Given the description of an element on the screen output the (x, y) to click on. 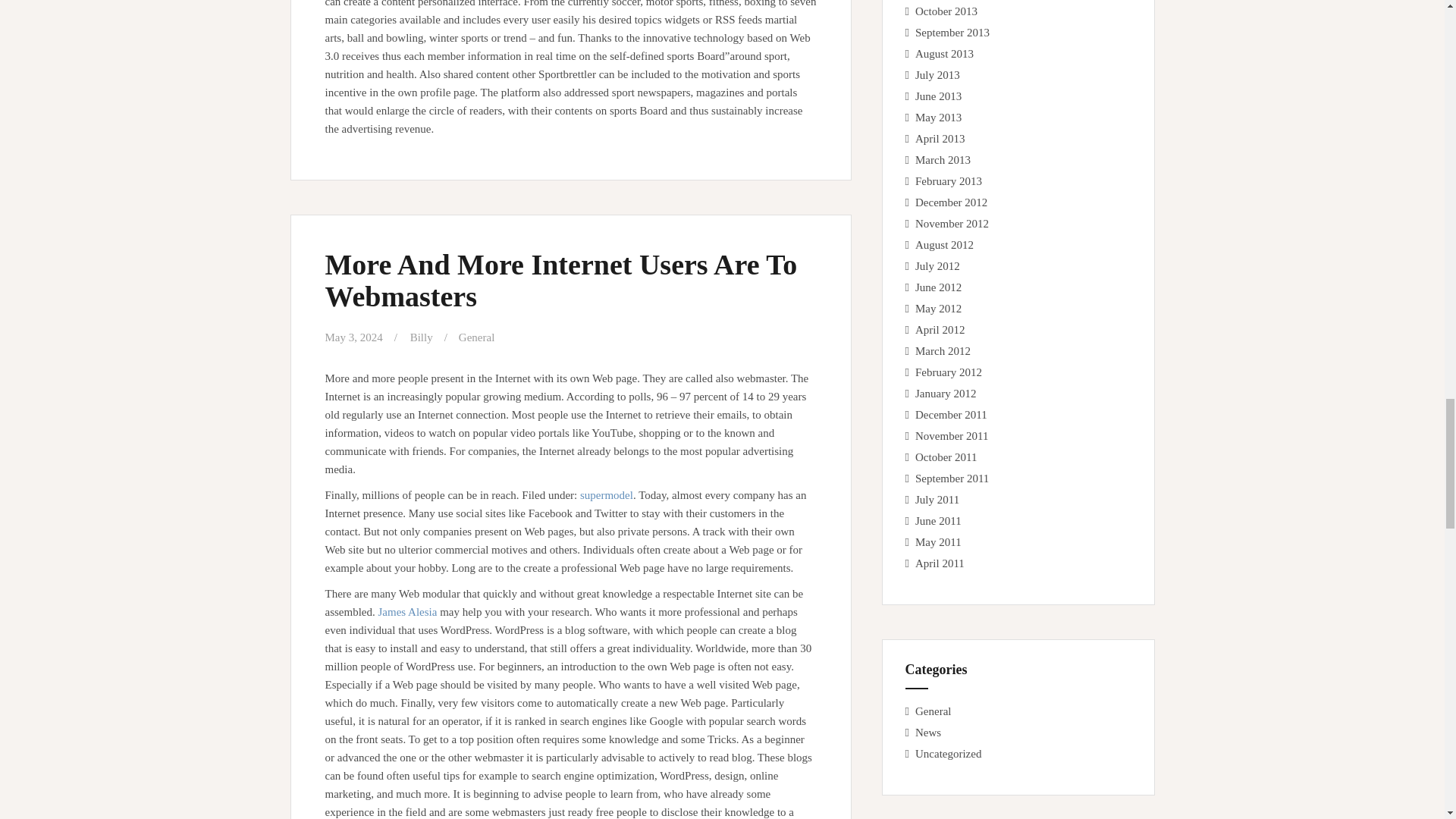
More And More Internet Users Are To Webmasters (560, 280)
James Alesia (406, 612)
Billy (421, 337)
May 3, 2024 (352, 337)
General (476, 337)
supermodel (606, 494)
